Given the description of an element on the screen output the (x, y) to click on. 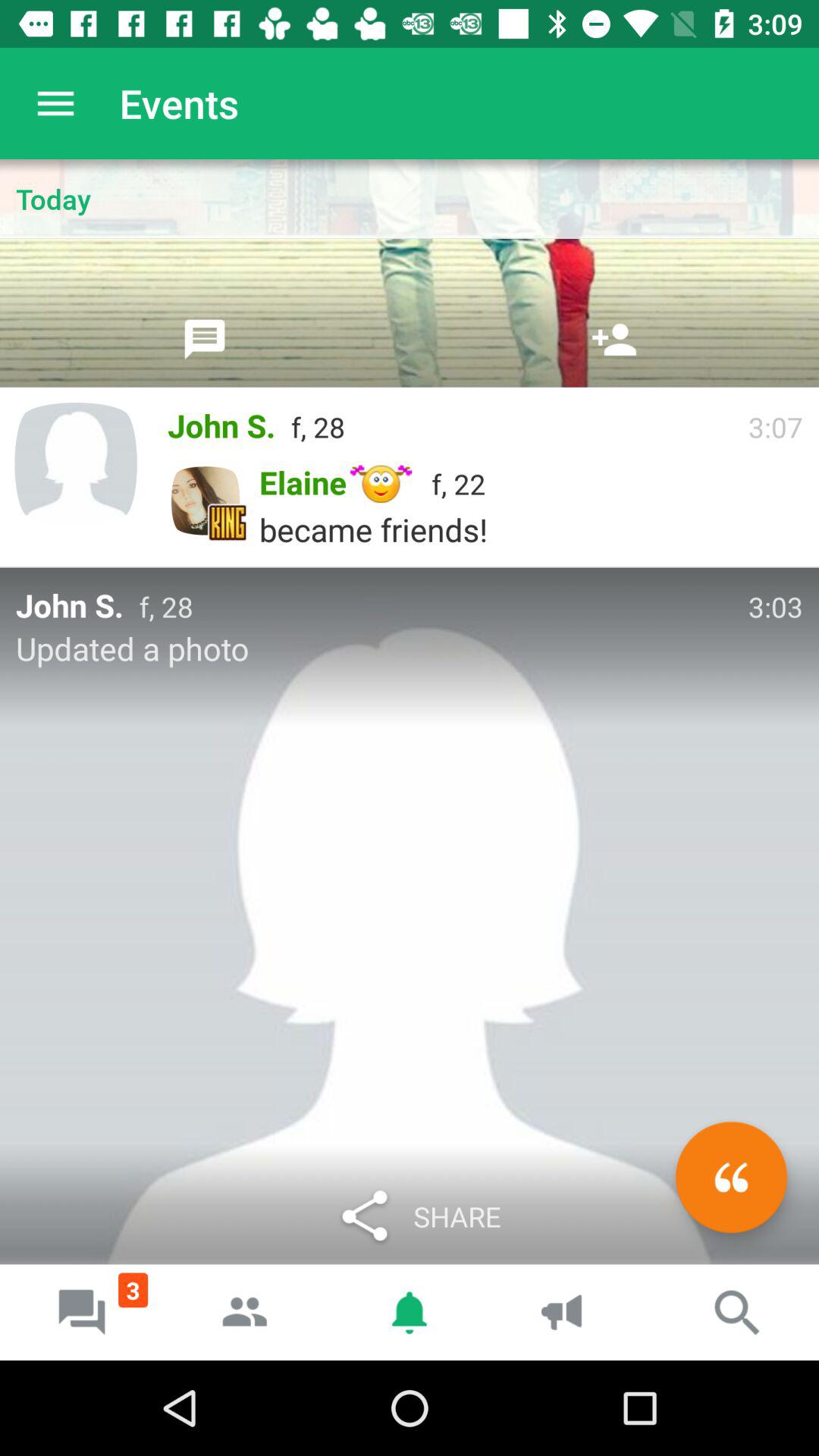
comment (204, 339)
